Given the description of an element on the screen output the (x, y) to click on. 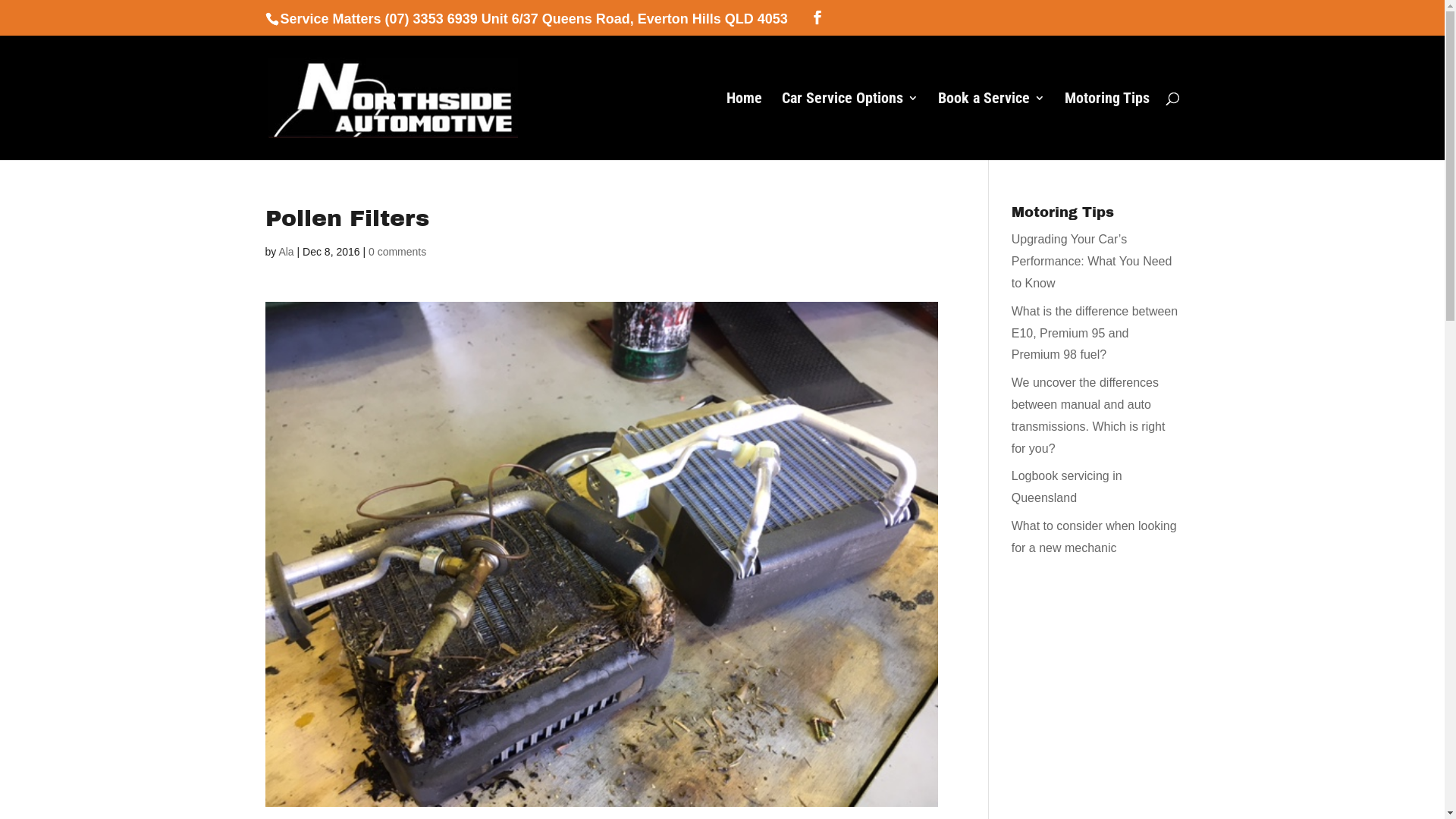
Home Element type: text (744, 126)
0 comments Element type: text (397, 251)
Motoring Tips Element type: text (1106, 126)
Book a Service Element type: text (990, 126)
Logbook servicing in Queensland Element type: text (1066, 486)
Car Service Options Element type: text (849, 126)
Ala Element type: text (285, 251)
What to consider when looking for a new mechanic Element type: text (1093, 536)
